Given the description of an element on the screen output the (x, y) to click on. 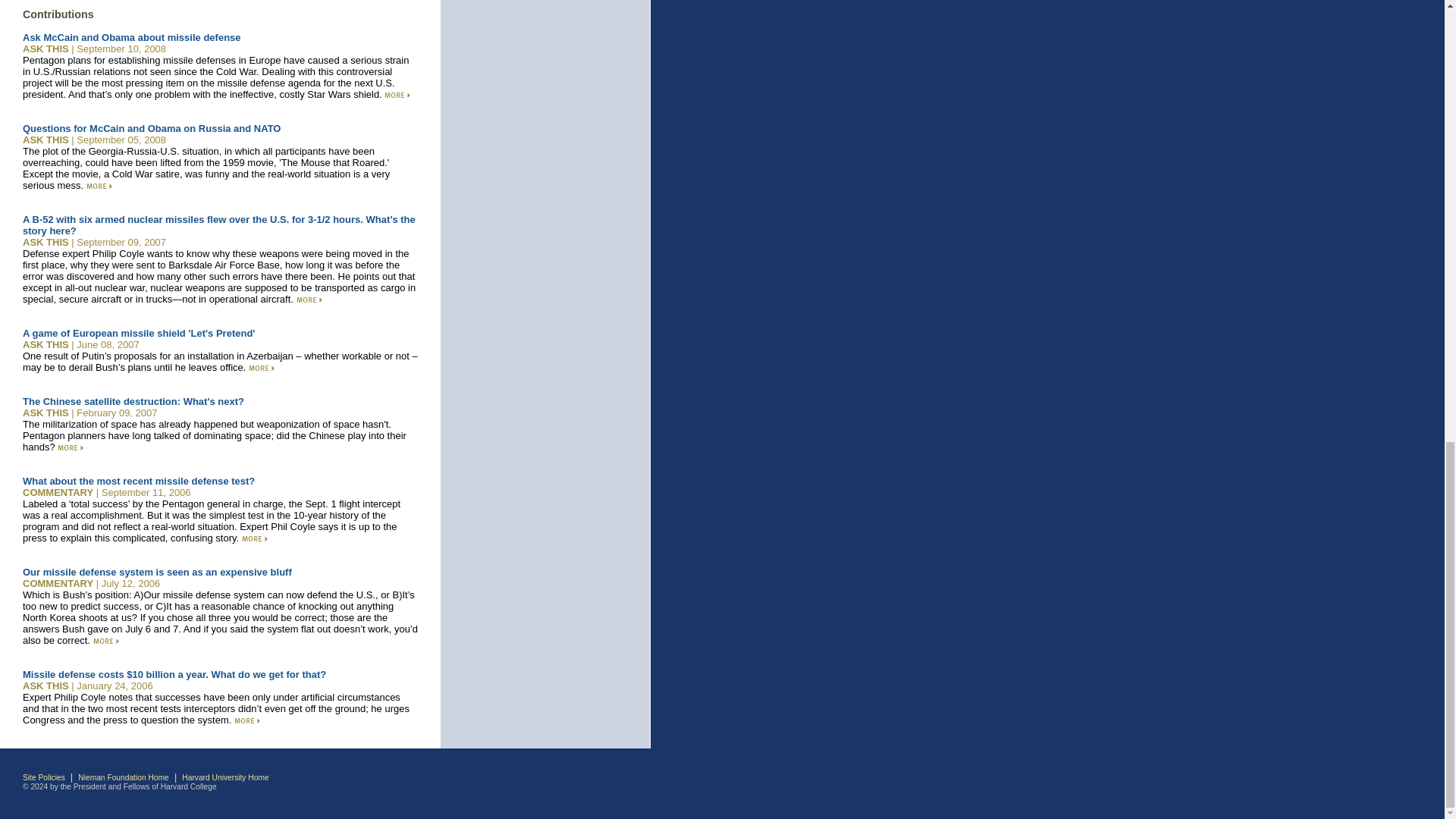
A game of European missile shield 'Let's Pretend' (138, 333)
Questions for McCain and Obama on Russia and NATO (152, 128)
What about the most recent missile defense test? (138, 480)
Ask McCain and Obama about missile defense (132, 37)
The Chinese satellite destruction: What's next? (133, 401)
Our missile defense system is seen as an expensive bluff (157, 572)
